Given the description of an element on the screen output the (x, y) to click on. 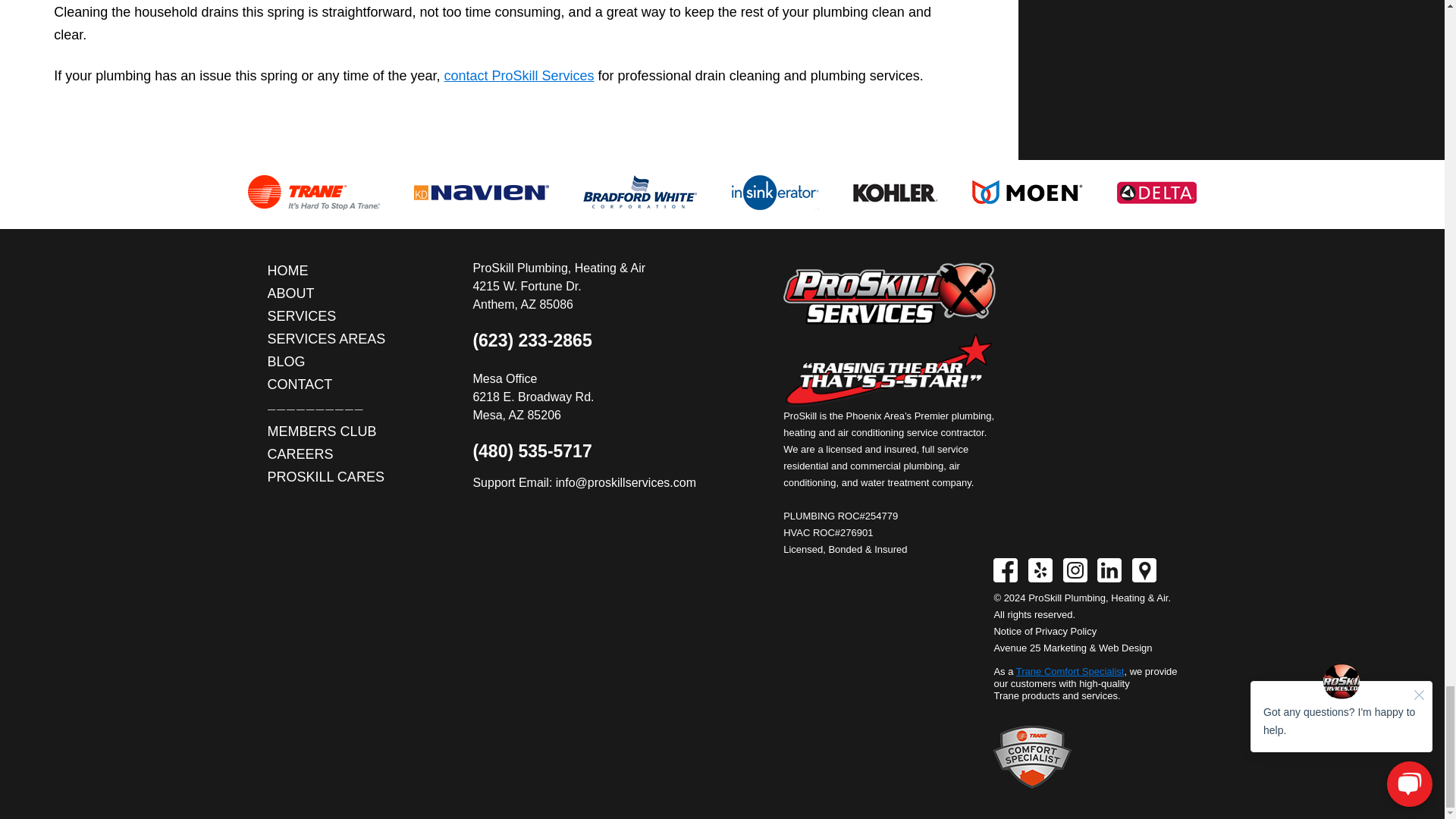
ABOUT (325, 292)
Yelp (1039, 569)
LinkedIn (1109, 569)
CONTACT (325, 384)
MEMBERS CLUB (325, 431)
Instagram (1074, 569)
contact ProSkill Services (519, 75)
HOME (325, 270)
PROSKILL CARES (325, 477)
CAREERS (325, 454)
SERVICES (325, 315)
Facebook (1004, 569)
BLOG (325, 361)
SERVICES AREAS (325, 338)
